Given the description of an element on the screen output the (x, y) to click on. 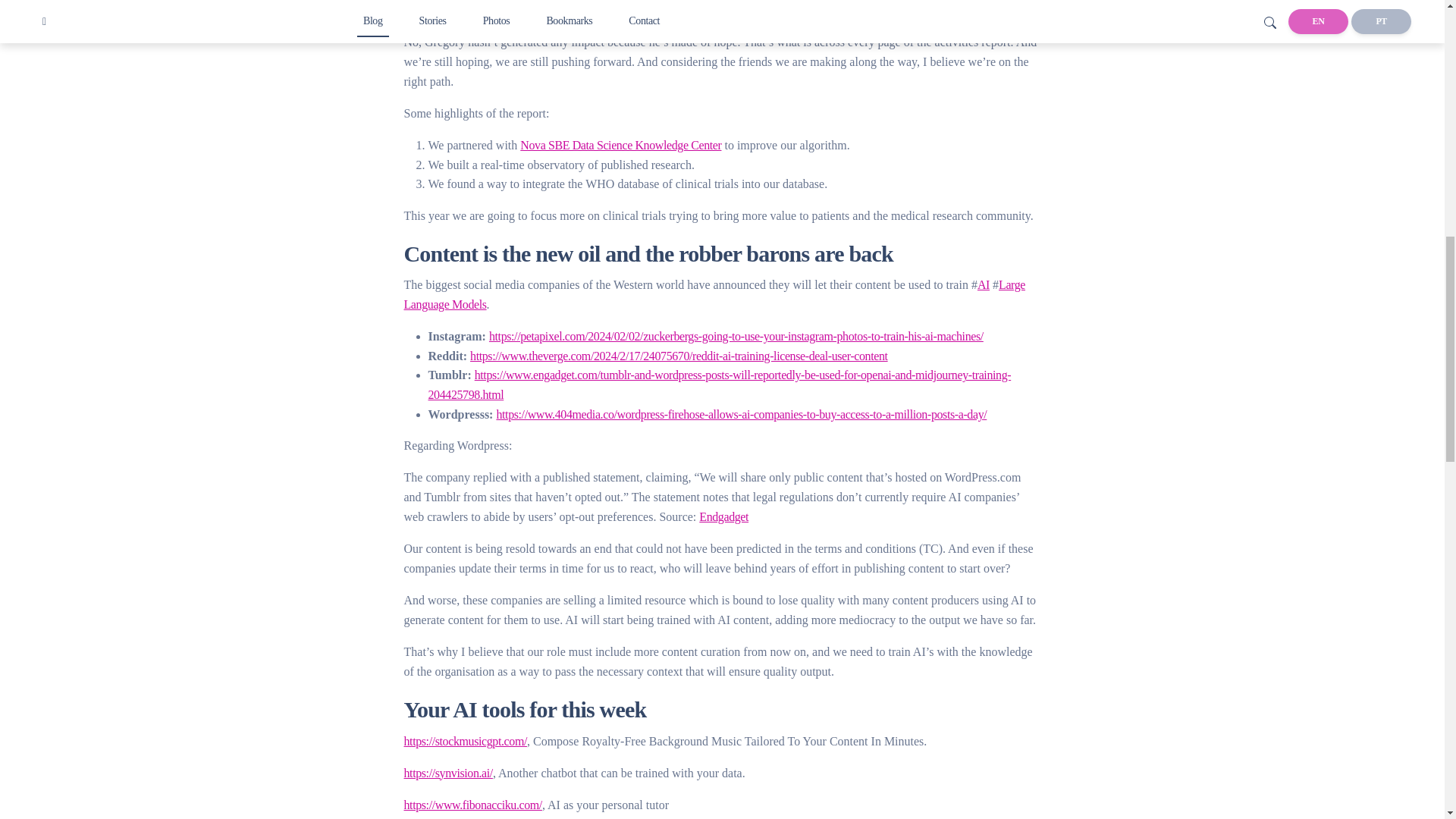
What is the Impact of Hope? (469, 10)
Nova SBE Data Science Knowledge Center (619, 144)
AI (983, 284)
Large Language Models (714, 294)
Endgadget (723, 516)
